Given the description of an element on the screen output the (x, y) to click on. 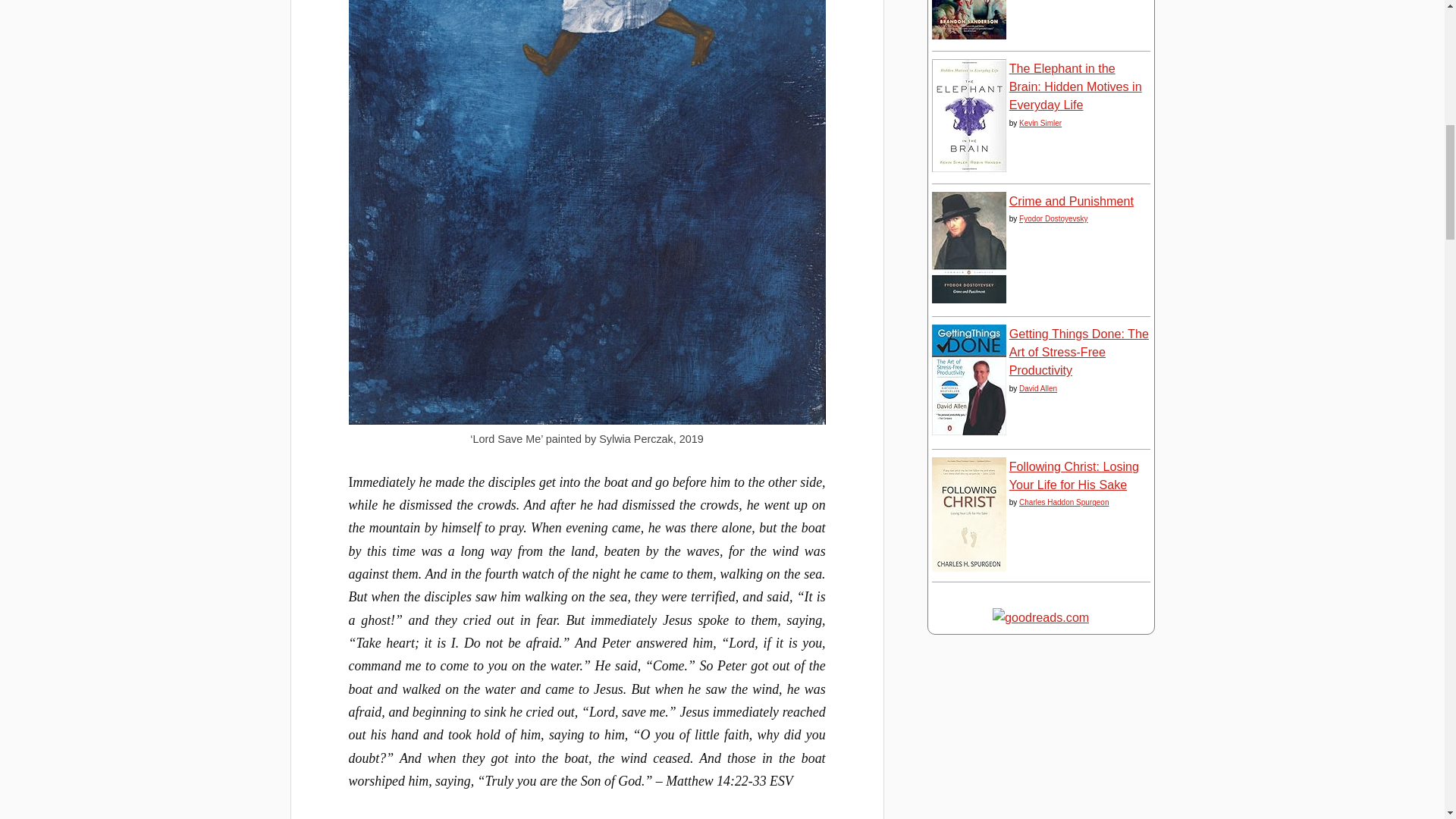
Following Christ: Losing Your Life for His Sake (968, 567)
Getting Things Done: The Art of Stress-Free Productivity (968, 430)
Crime and Punishment (968, 298)
The Elephant in the Brain: Hidden Motives in Everyday Life (968, 167)
